Given the description of an element on the screen output the (x, y) to click on. 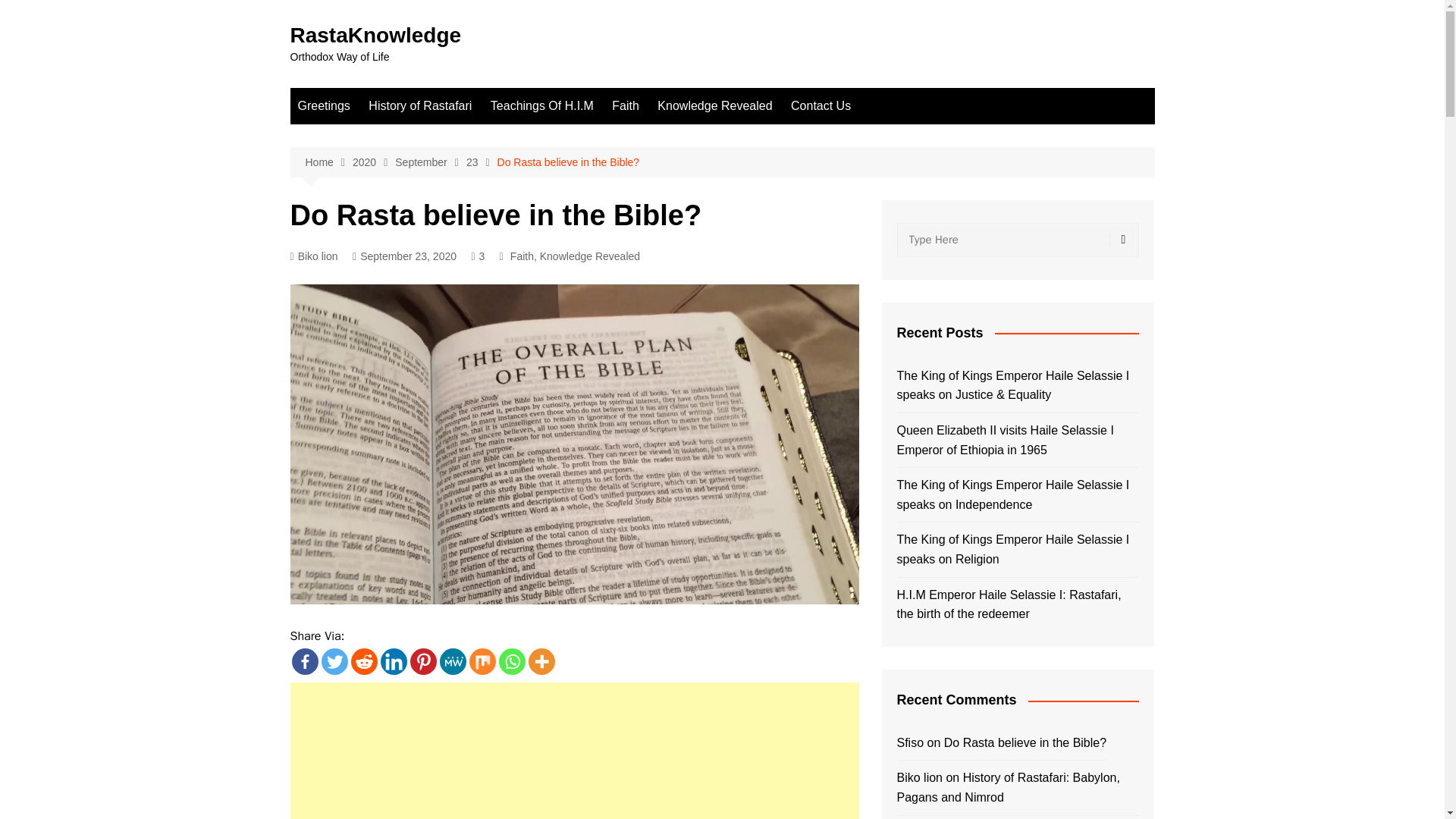
Teachings Of H.I.M (542, 105)
Mix (481, 661)
Facebook (304, 661)
September 23, 2020 (404, 256)
Reddit (363, 661)
September (429, 162)
Pinterest (422, 661)
2020 (373, 162)
More (540, 661)
Knowledge Revealed (590, 256)
